Given the description of an element on the screen output the (x, y) to click on. 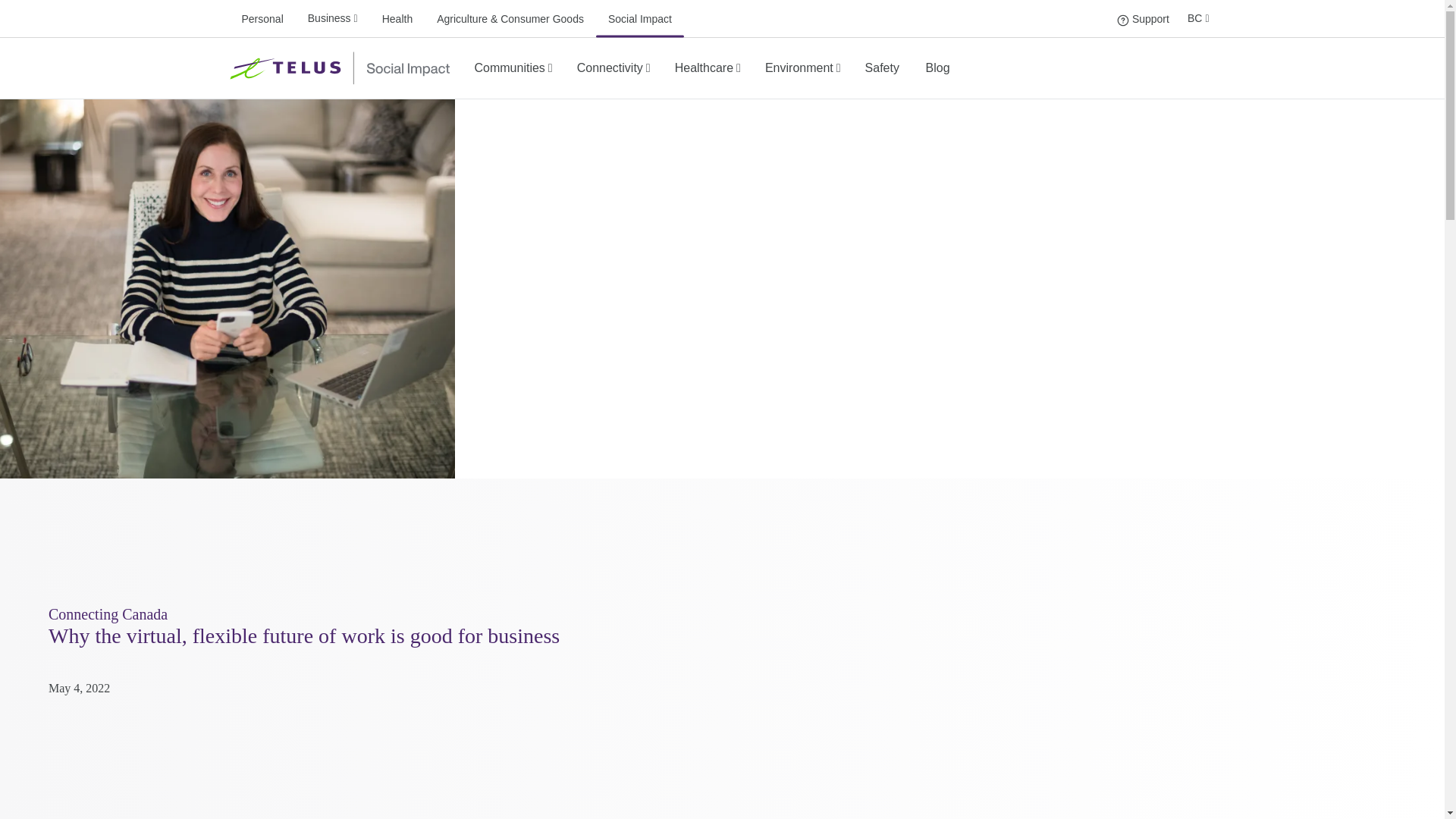
Environment (803, 67)
Connectivity (613, 67)
Social Impact (640, 18)
BC (1197, 18)
Communities (513, 67)
Health (397, 18)
Healthcare (1142, 18)
Personal (708, 67)
Business (261, 18)
